Given the description of an element on the screen output the (x, y) to click on. 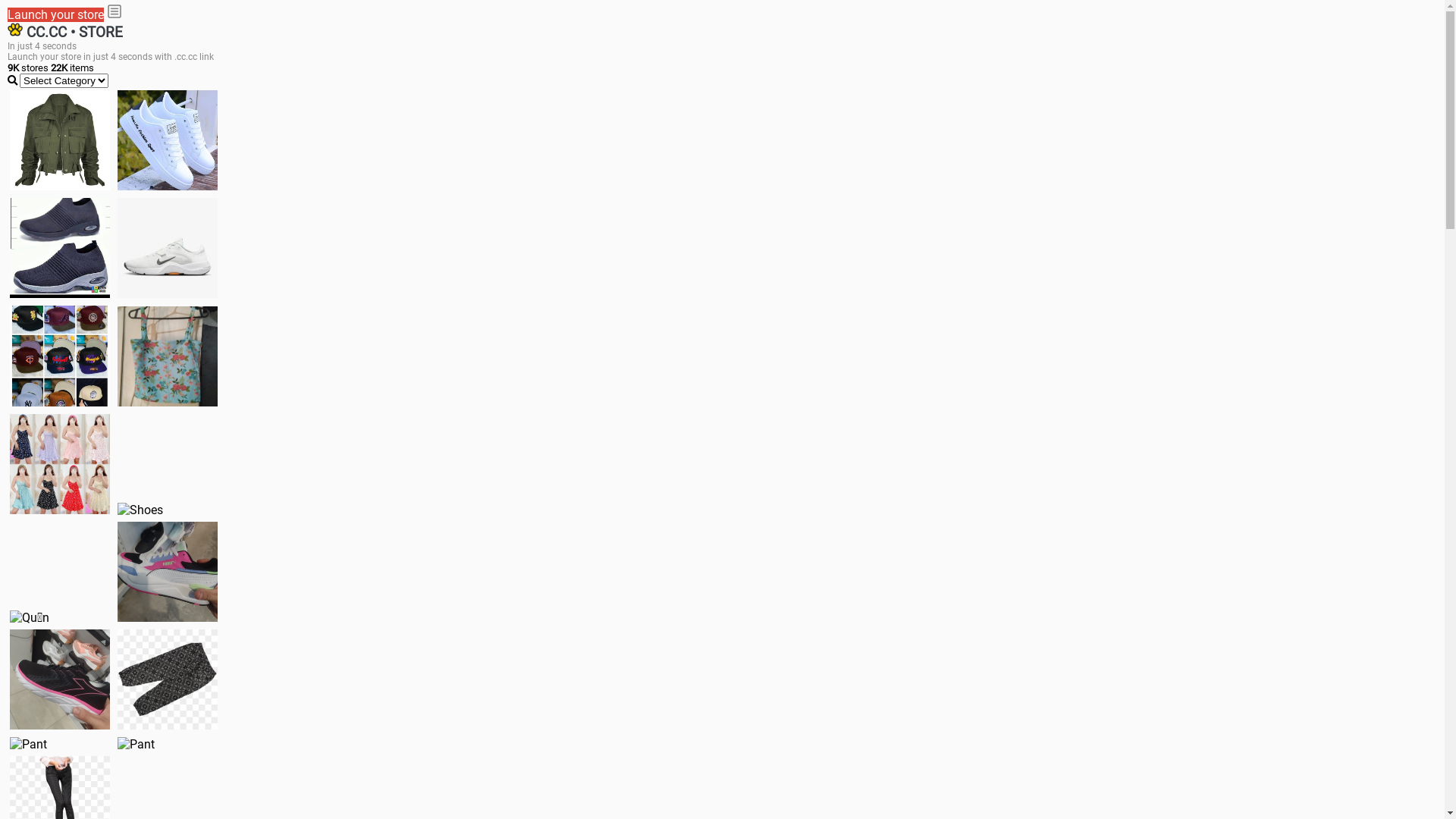
Things we need Element type: hover (59, 355)
Shoes for boys Element type: hover (167, 247)
white shoes Element type: hover (167, 140)
Short pant Element type: hover (167, 679)
Zapatillas Element type: hover (59, 679)
Zapatillas pumas Element type: hover (167, 571)
Dress/square nect top Element type: hover (59, 464)
Ukay cloth Element type: hover (167, 356)
Pant Element type: hover (28, 744)
Pant Element type: hover (135, 744)
jacket Element type: hover (59, 140)
Launch your store Element type: text (55, 14)
Shoes Element type: hover (140, 509)
shoes for boys Element type: hover (59, 247)
